Given the description of an element on the screen output the (x, y) to click on. 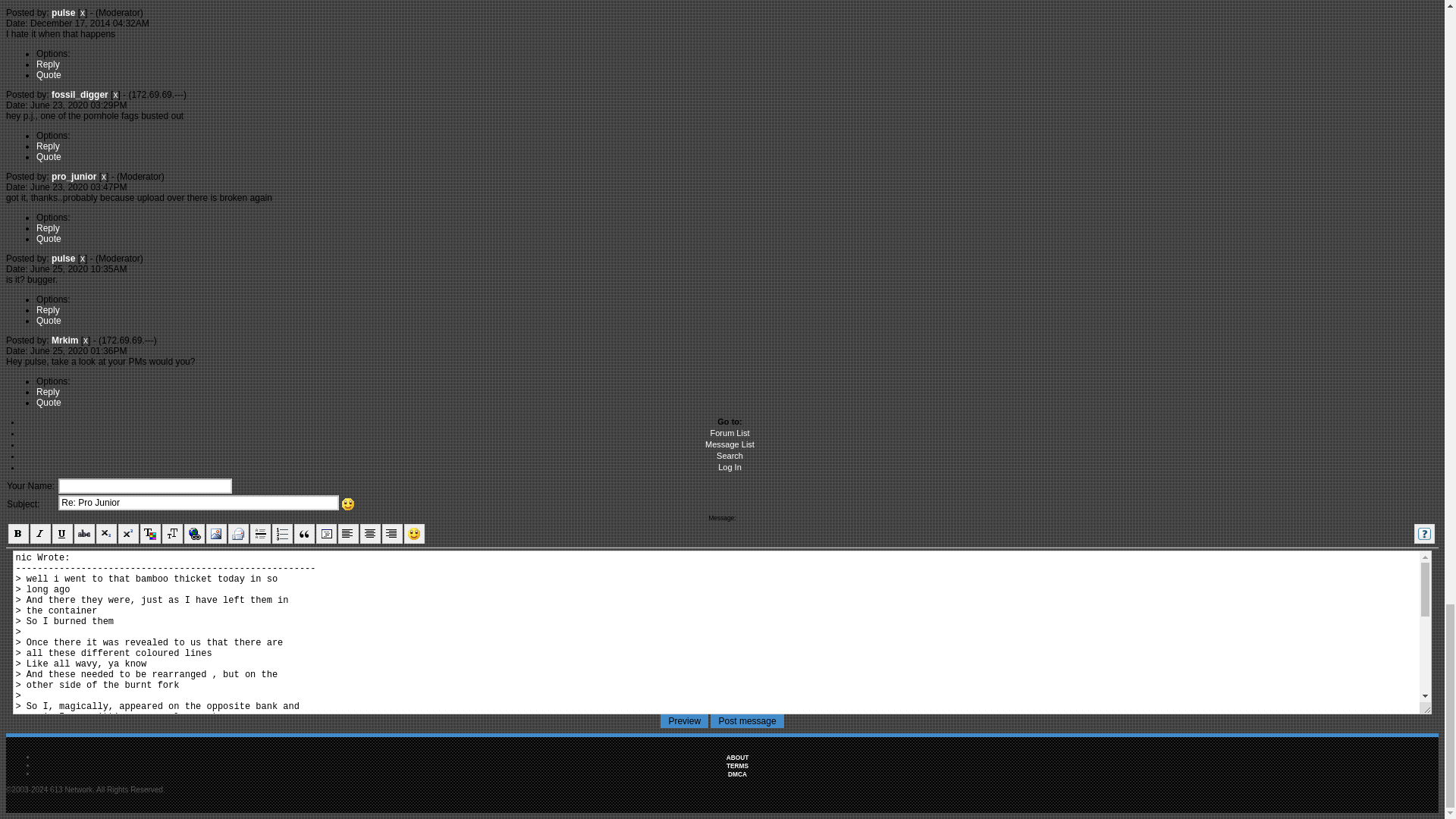
Superscript (127, 533)
Insert a list of items (282, 533)
Insert horizontal line (260, 533)
Insert smiley into the subject (348, 504)
Help information (1423, 533)
Italic (40, 533)
Select font color (149, 533)
Insert image URL (216, 533)
 Preview  (684, 721)
 Post message  (747, 721)
Strike through (84, 533)
Subscript (106, 533)
Underline (62, 533)
Re: Pro Junior (198, 502)
Insert URL (194, 533)
